Given the description of an element on the screen output the (x, y) to click on. 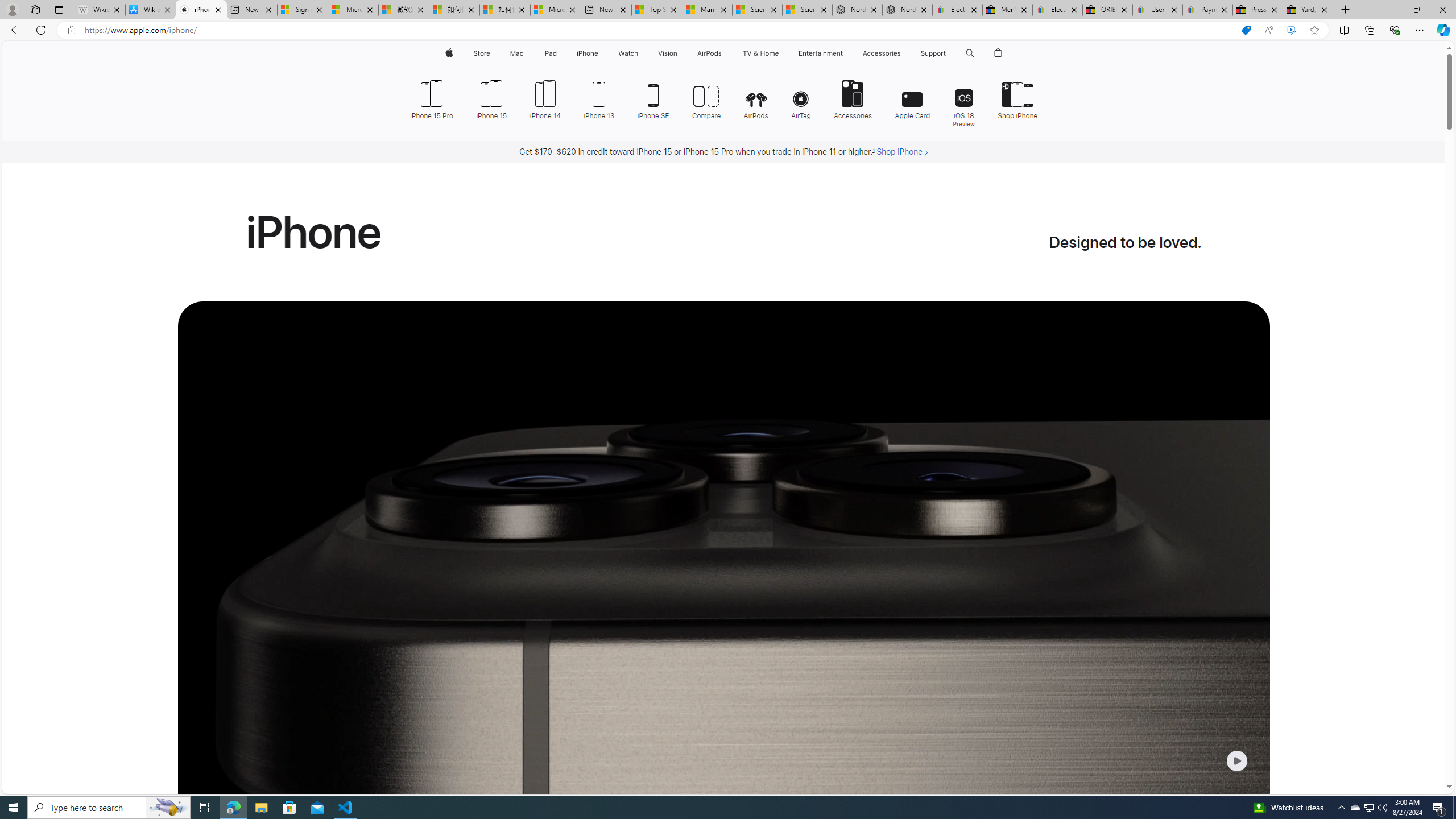
iPhone 13 (599, 98)
Vision (667, 53)
Mac (516, 53)
